Given the description of an element on the screen output the (x, y) to click on. 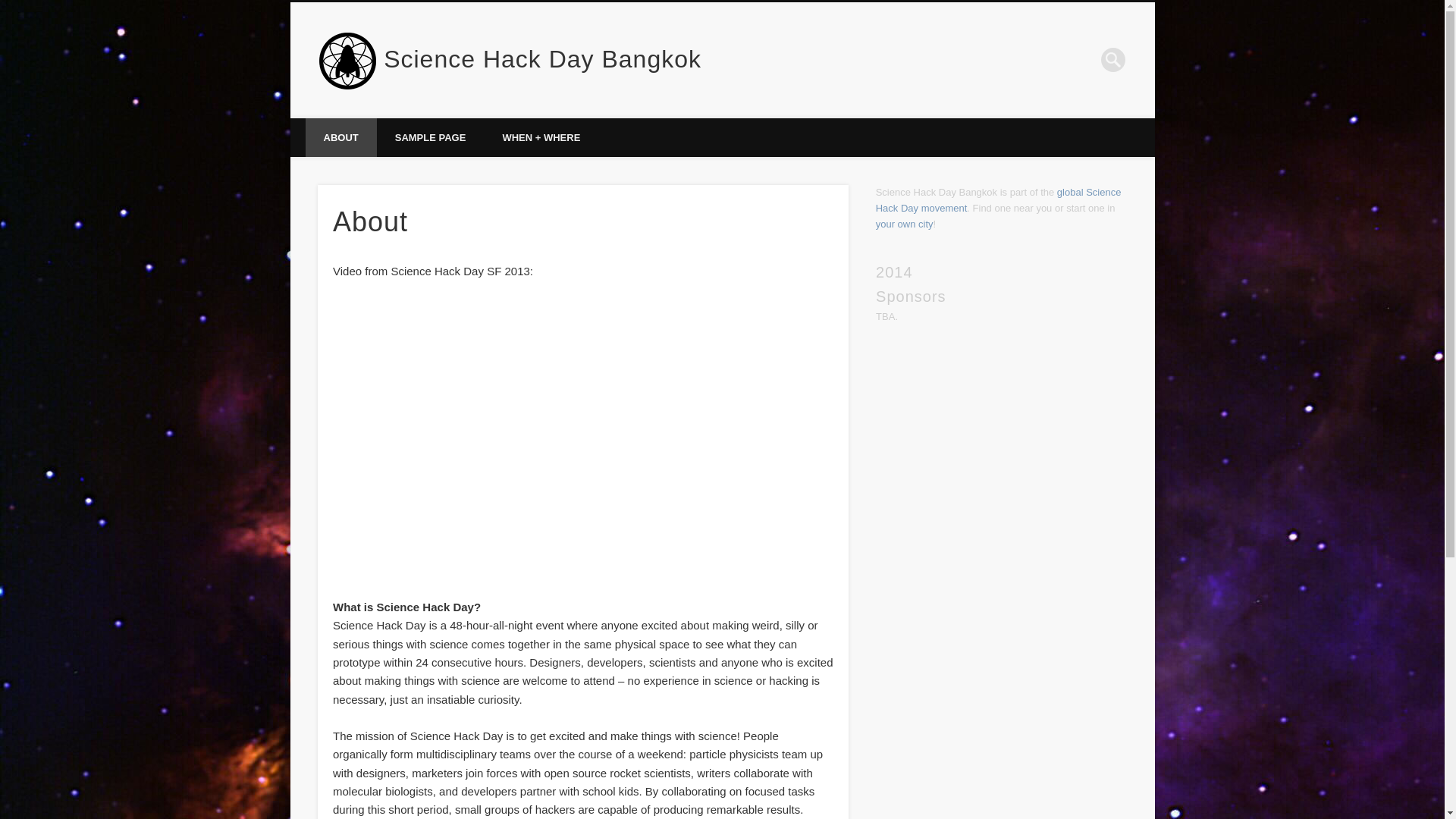
global Science Hack Day movement (998, 199)
your own city (904, 224)
SAMPLE PAGE (430, 137)
Search (11, 7)
Science Hack Day Bangkok (542, 58)
ABOUT (339, 137)
